Given the description of an element on the screen output the (x, y) to click on. 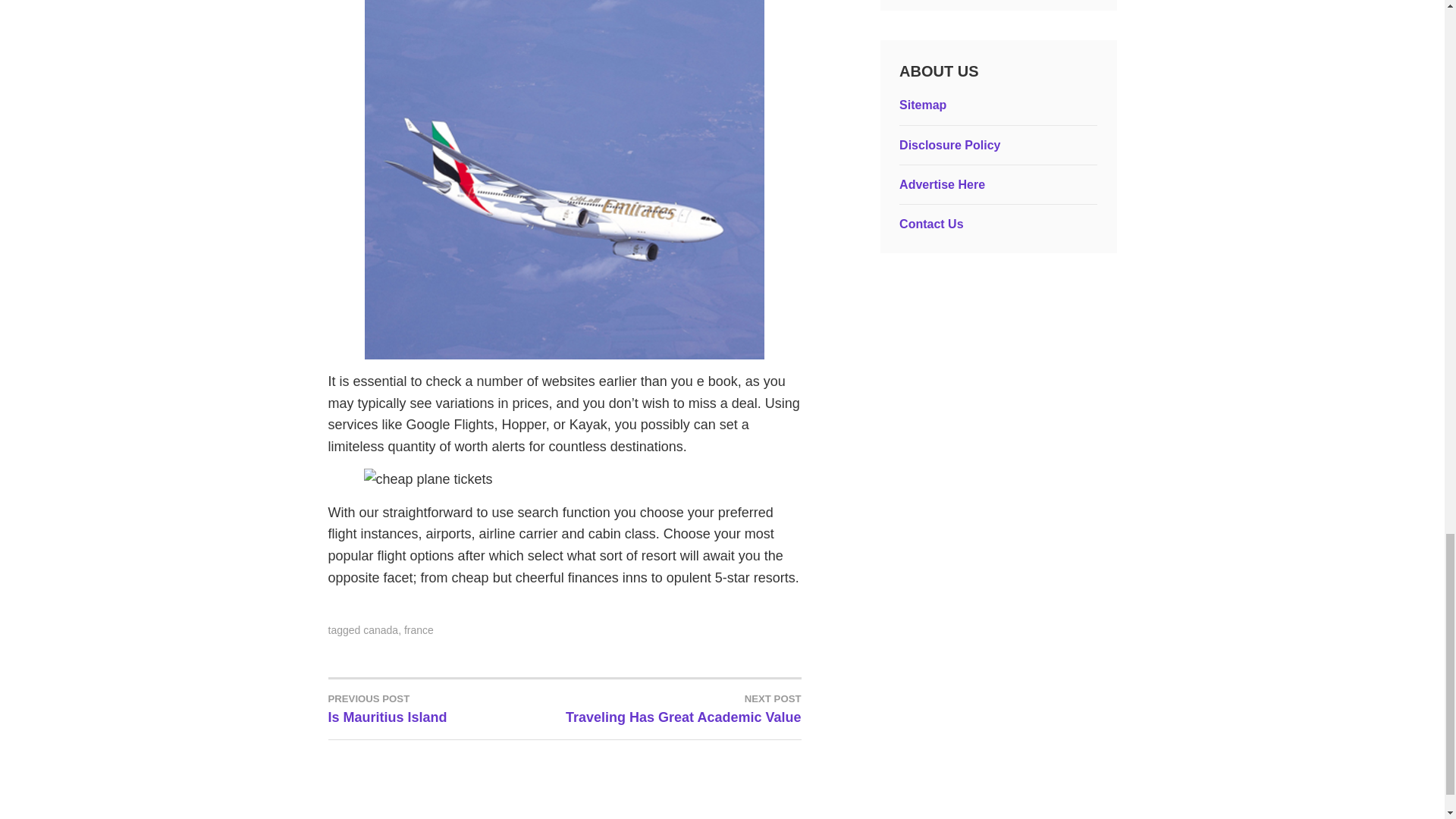
canada (379, 630)
france (445, 707)
